Given the description of an element on the screen output the (x, y) to click on. 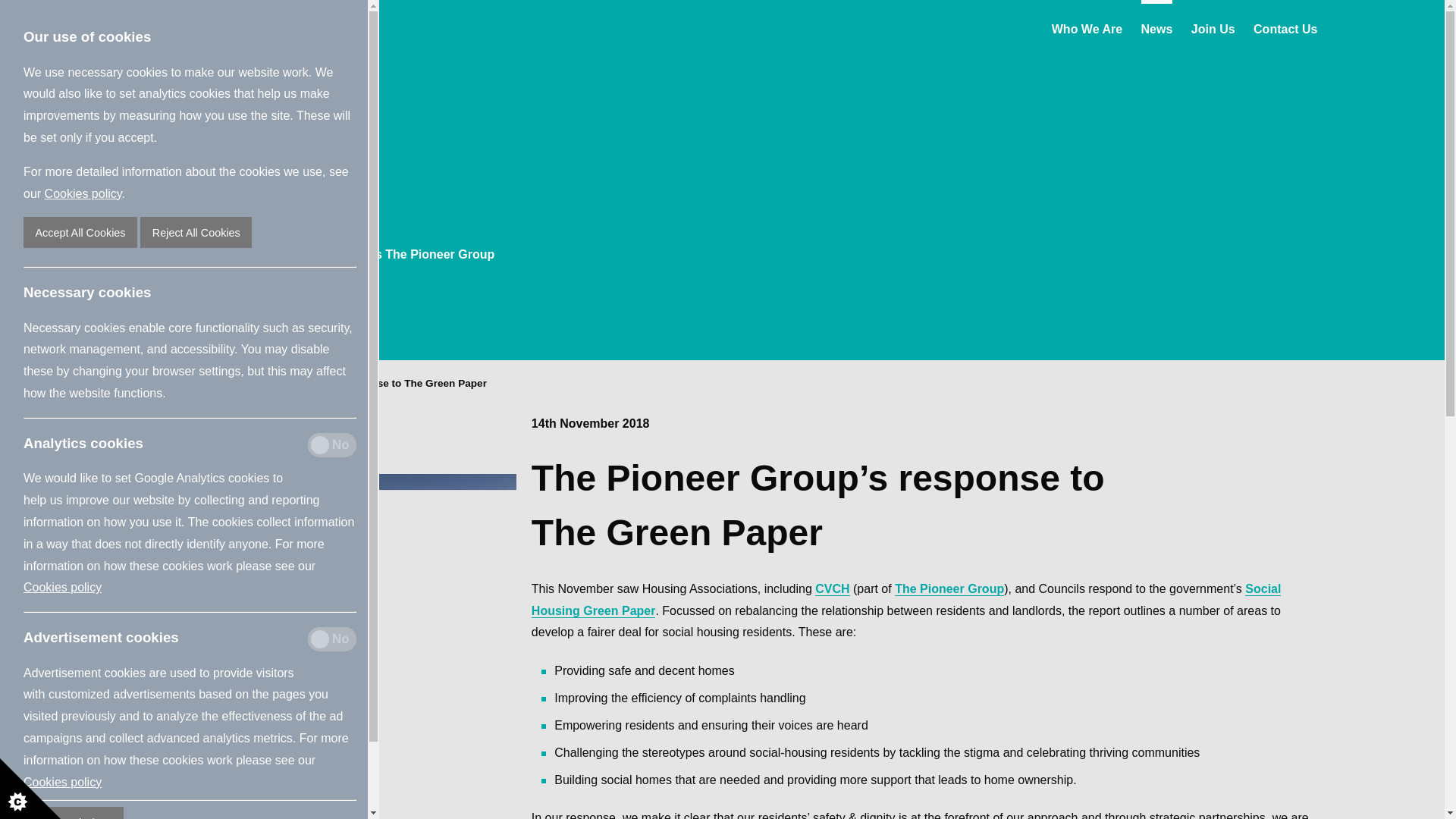
Cookies policy (83, 192)
Who We Are (1086, 27)
Social Housing Green Paper (906, 600)
The Pioneer Group (949, 589)
Contact Us (1285, 27)
Reject All Cookies (195, 232)
Cookie Control Icon (30, 788)
Contact Us (1285, 27)
CVCH (831, 589)
Who We Are (1086, 27)
